Given the description of an element on the screen output the (x, y) to click on. 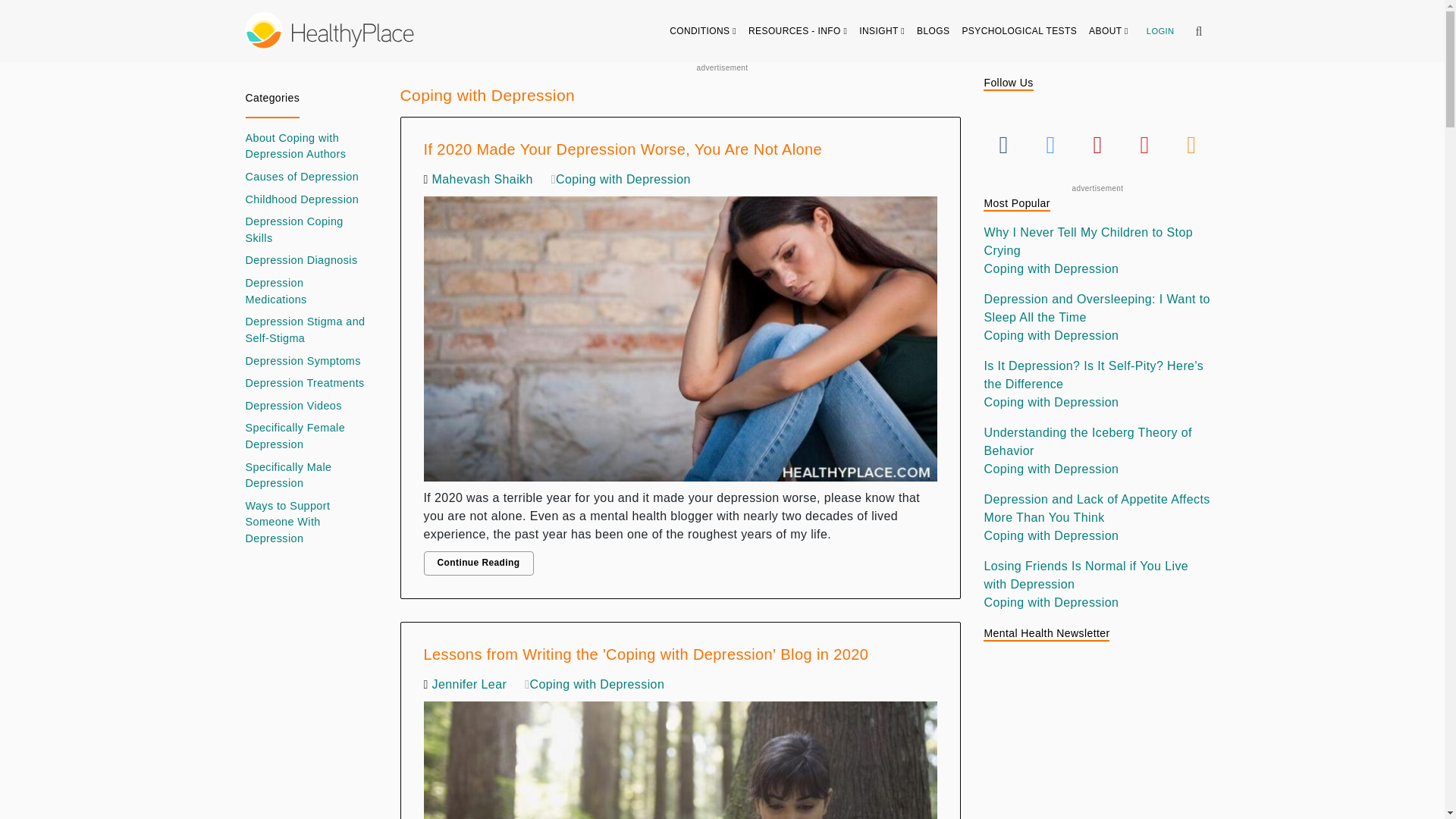
CONDITIONS (702, 31)
INSIGHT (882, 31)
RESOURCES - INFO (797, 31)
